Given the description of an element on the screen output the (x, y) to click on. 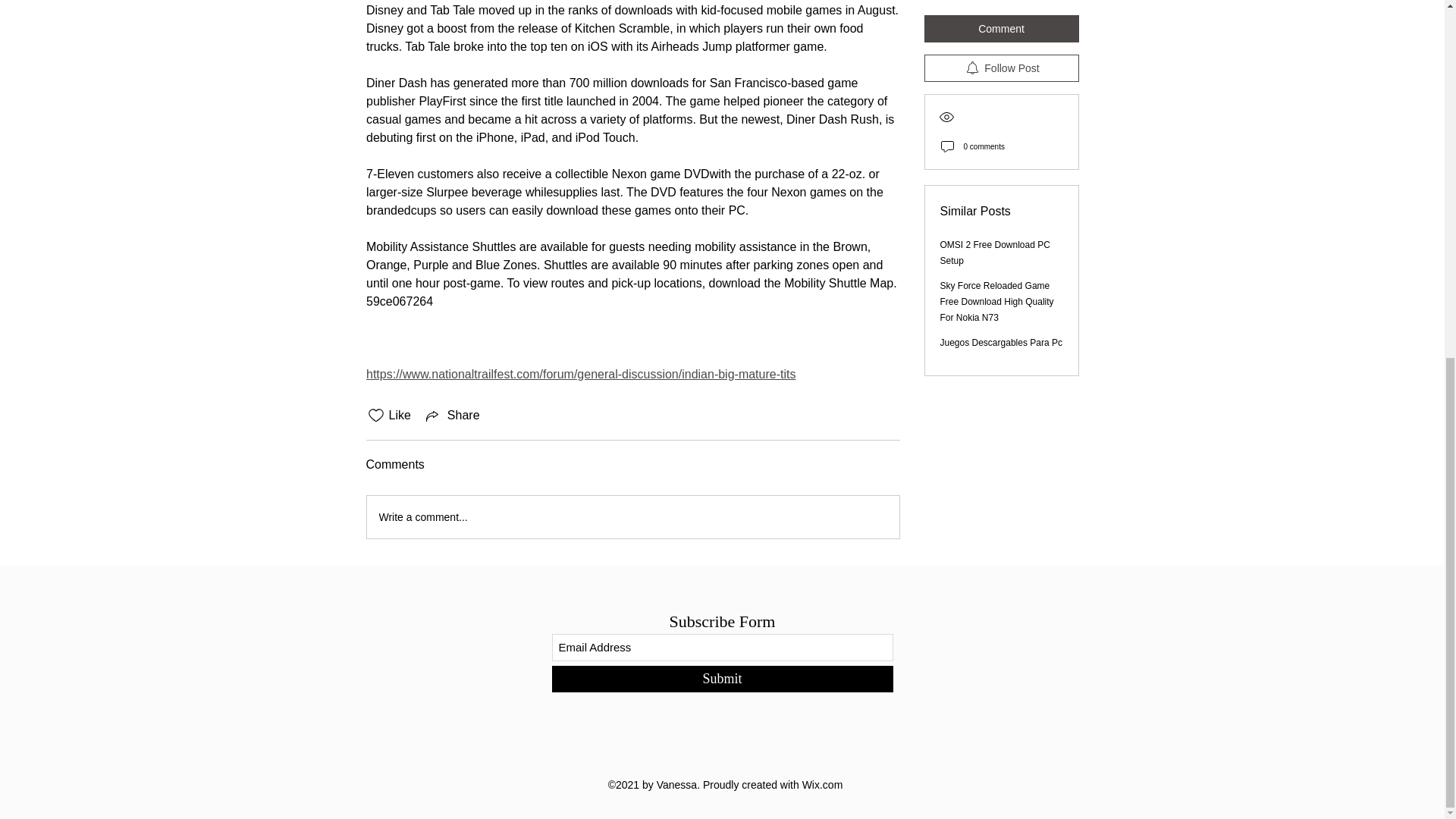
Submit (722, 678)
Share (451, 415)
Write a comment... (632, 517)
